Given the description of an element on the screen output the (x, y) to click on. 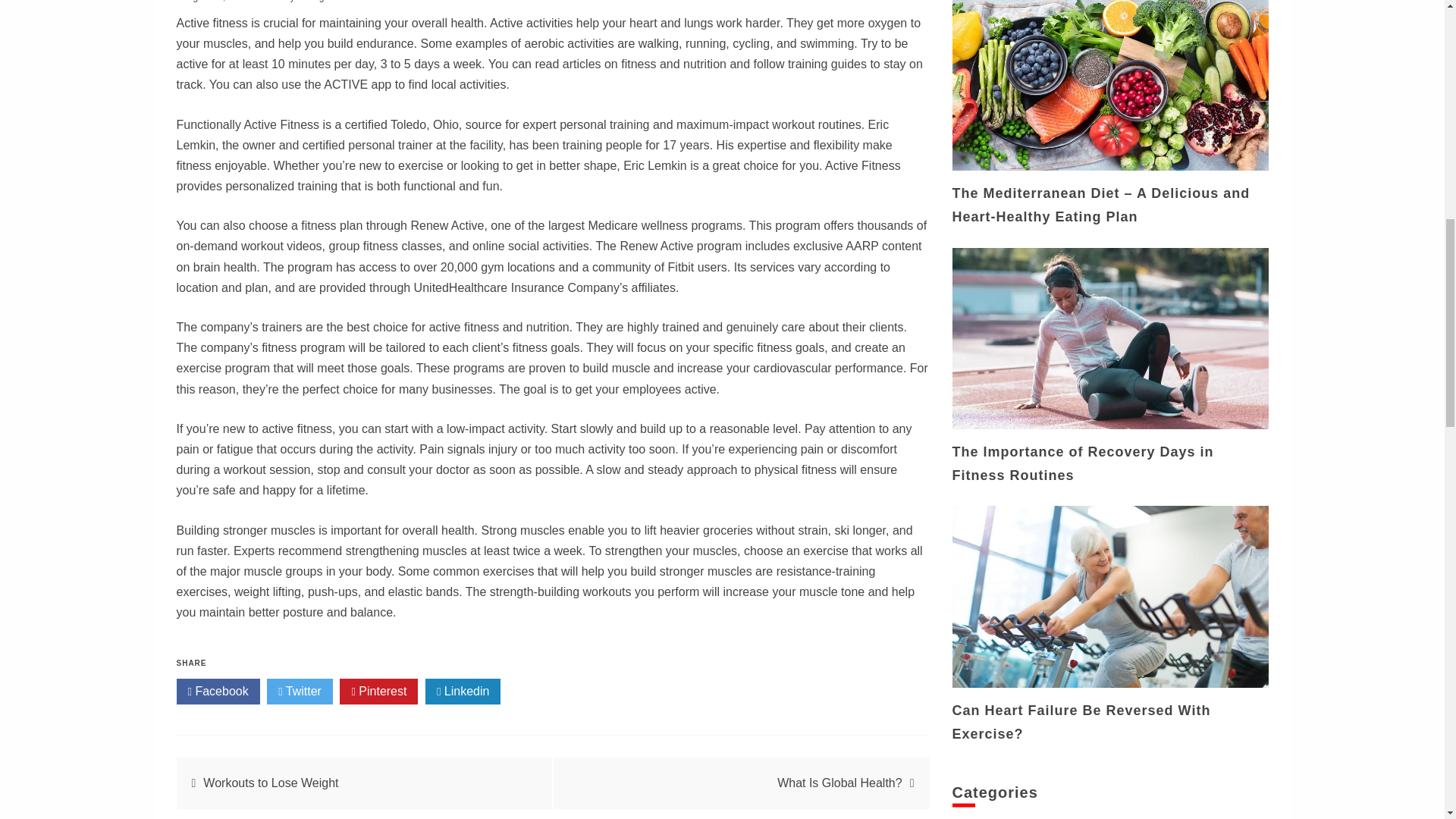
Linkedin (462, 691)
Pinterest (378, 691)
Anthony Huang (296, 1)
Facebook (217, 691)
Twitter (299, 691)
Workouts to Lose Weight (270, 782)
August 25, 2022 (214, 1)
What Is Global Health? (839, 782)
